Given the description of an element on the screen output the (x, y) to click on. 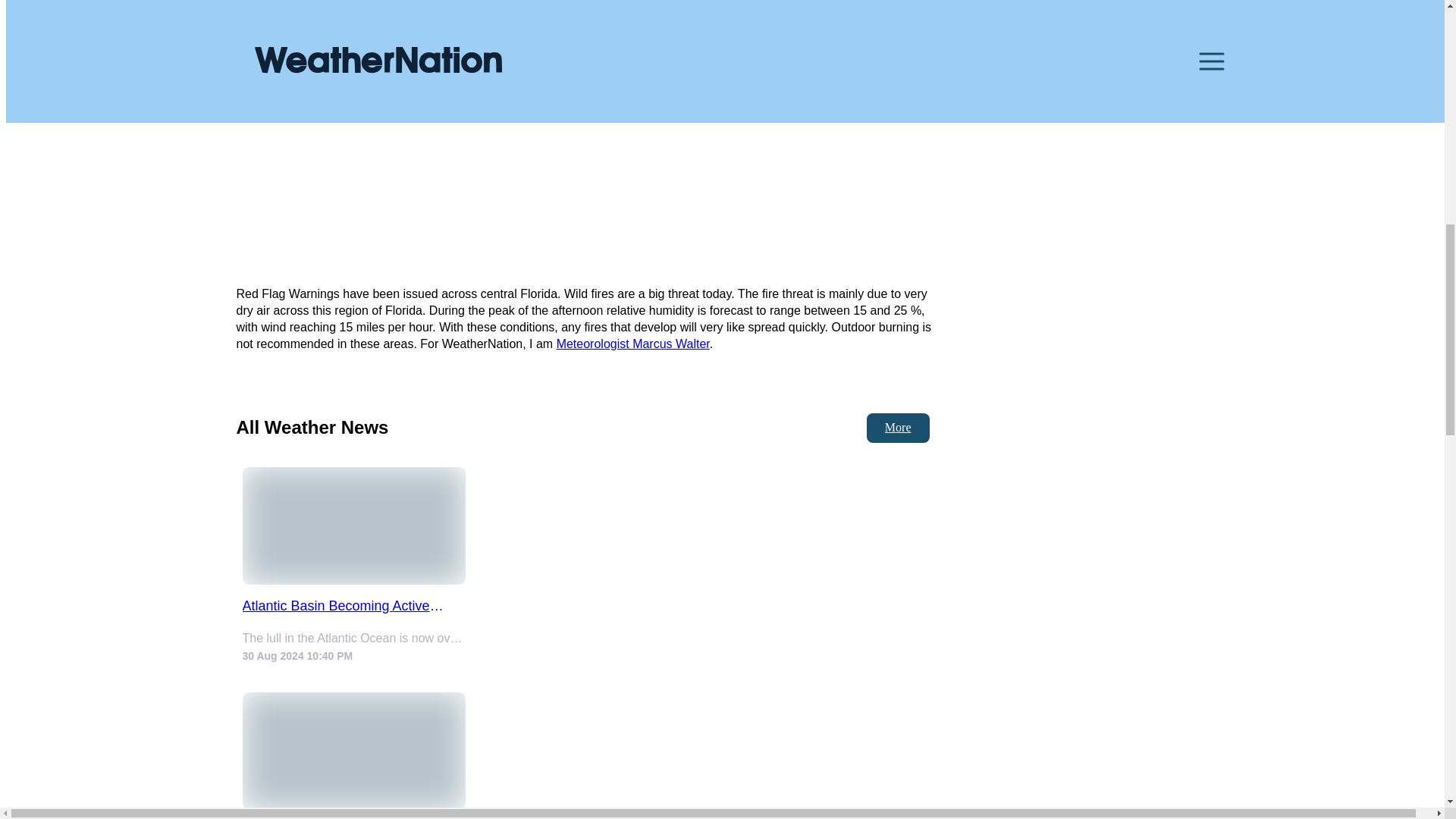
Atlantic Basin Becoming Active Again (354, 606)
Meteorologist Marcus Walter (633, 343)
More (898, 428)
